Given the description of an element on the screen output the (x, y) to click on. 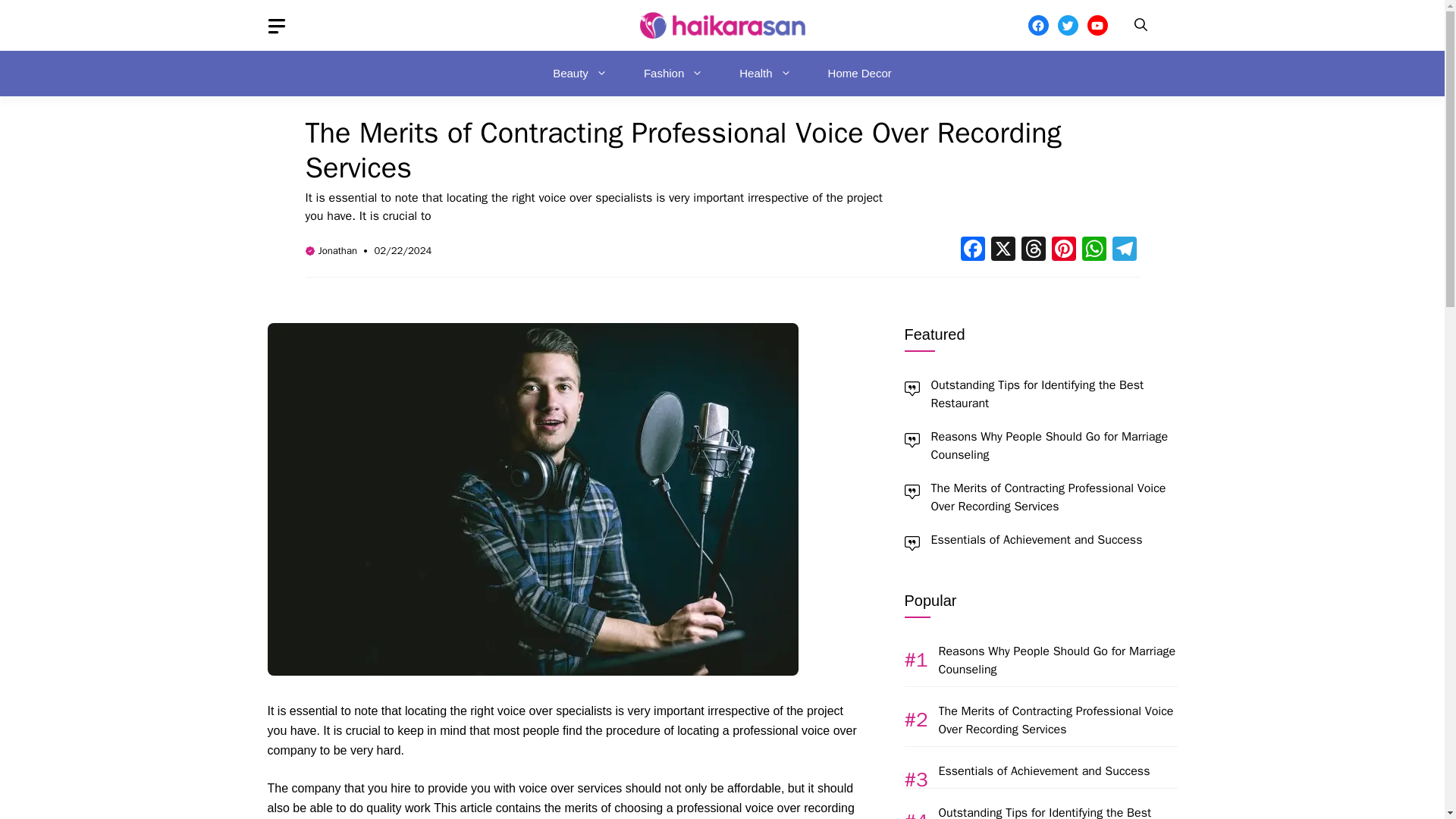
Reasons Why People Should Go for Marriage Counseling (1050, 445)
YouTube (1097, 25)
WhatsApp (1093, 250)
Facebook (971, 250)
Essentials of Achievement and Success (1036, 539)
WhatsApp (1093, 250)
Telegram (1123, 250)
Jonathan (337, 250)
Twitter (1067, 25)
Health (764, 73)
X (1002, 250)
Fashion (672, 73)
Pinterest (1063, 250)
Threads (1032, 250)
